Given the description of an element on the screen output the (x, y) to click on. 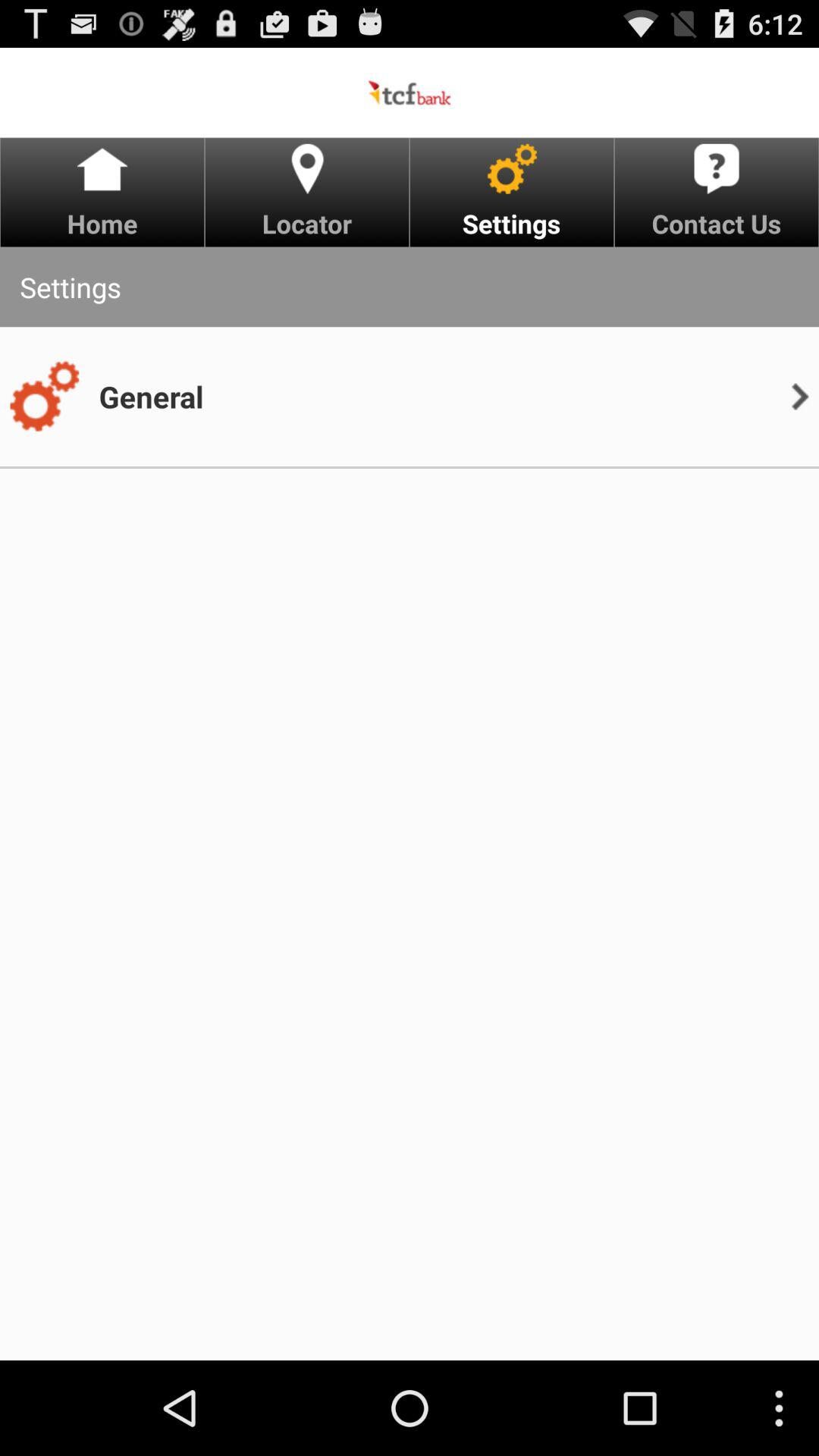
choose item to the left of the general item (44, 396)
